Given the description of an element on the screen output the (x, y) to click on. 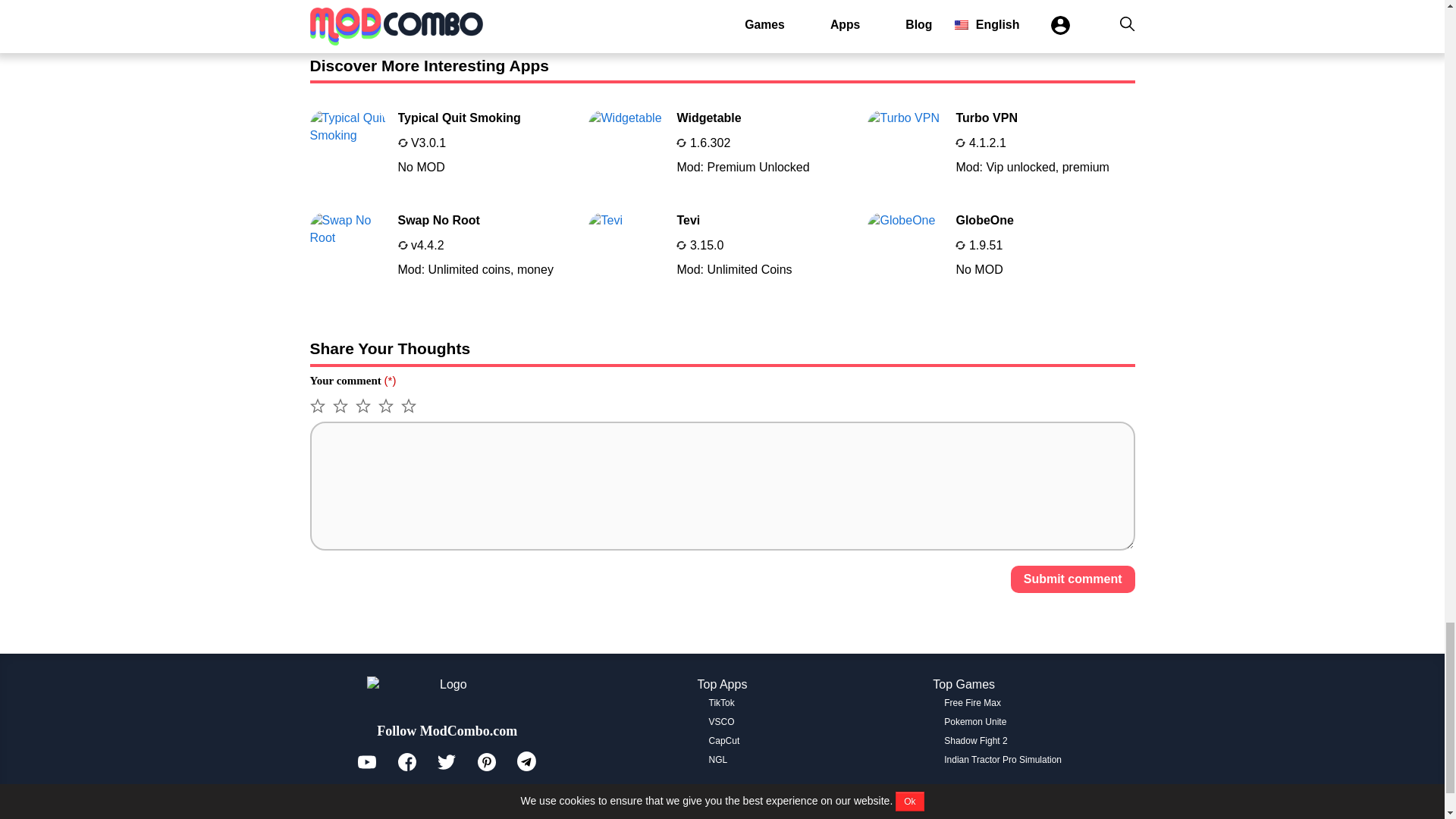
Free Fire Max (442, 250)
GlobeOne (972, 702)
Typical Quit Smoking (722, 250)
Swap No Root (1000, 250)
Indian Tractor Pro Simulation (442, 147)
Widgetable (442, 250)
